Given the description of an element on the screen output the (x, y) to click on. 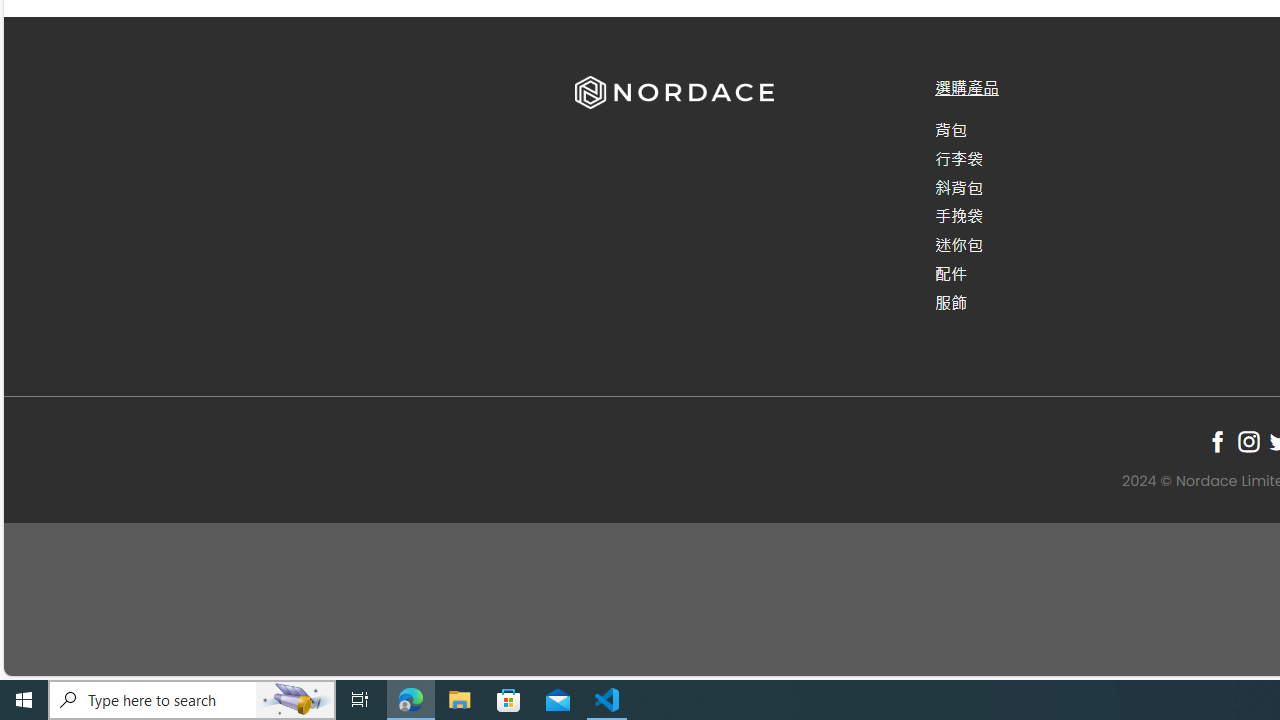
Follow on Facebook (1217, 441)
